Given the description of an element on the screen output the (x, y) to click on. 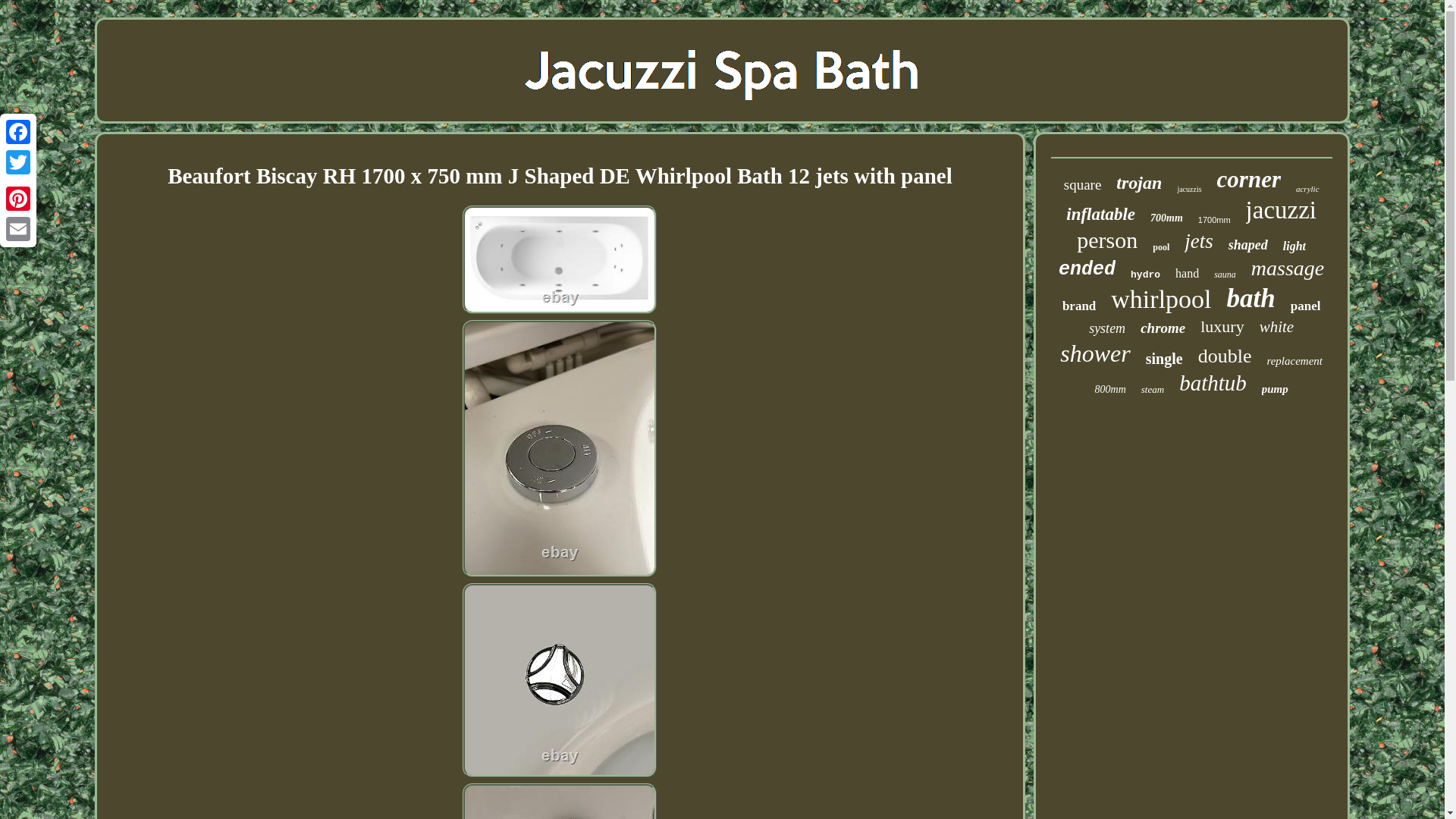
Facebook (17, 132)
square (1083, 184)
jacuzzis (1188, 189)
Twitter (17, 162)
hydro (1145, 274)
system (1107, 328)
ended (1086, 269)
light (1294, 246)
massage (1286, 268)
hand (1186, 273)
